Given the description of an element on the screen output the (x, y) to click on. 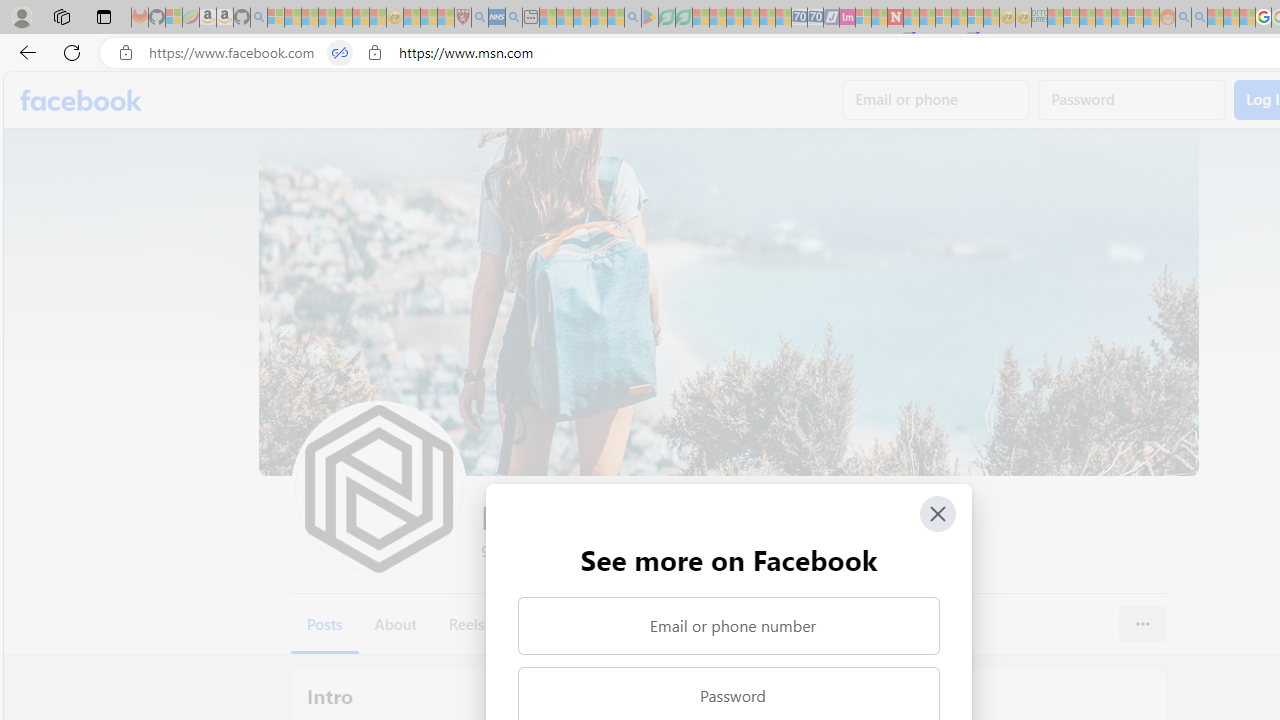
Email or phone (936, 99)
